Given the description of an element on the screen output the (x, y) to click on. 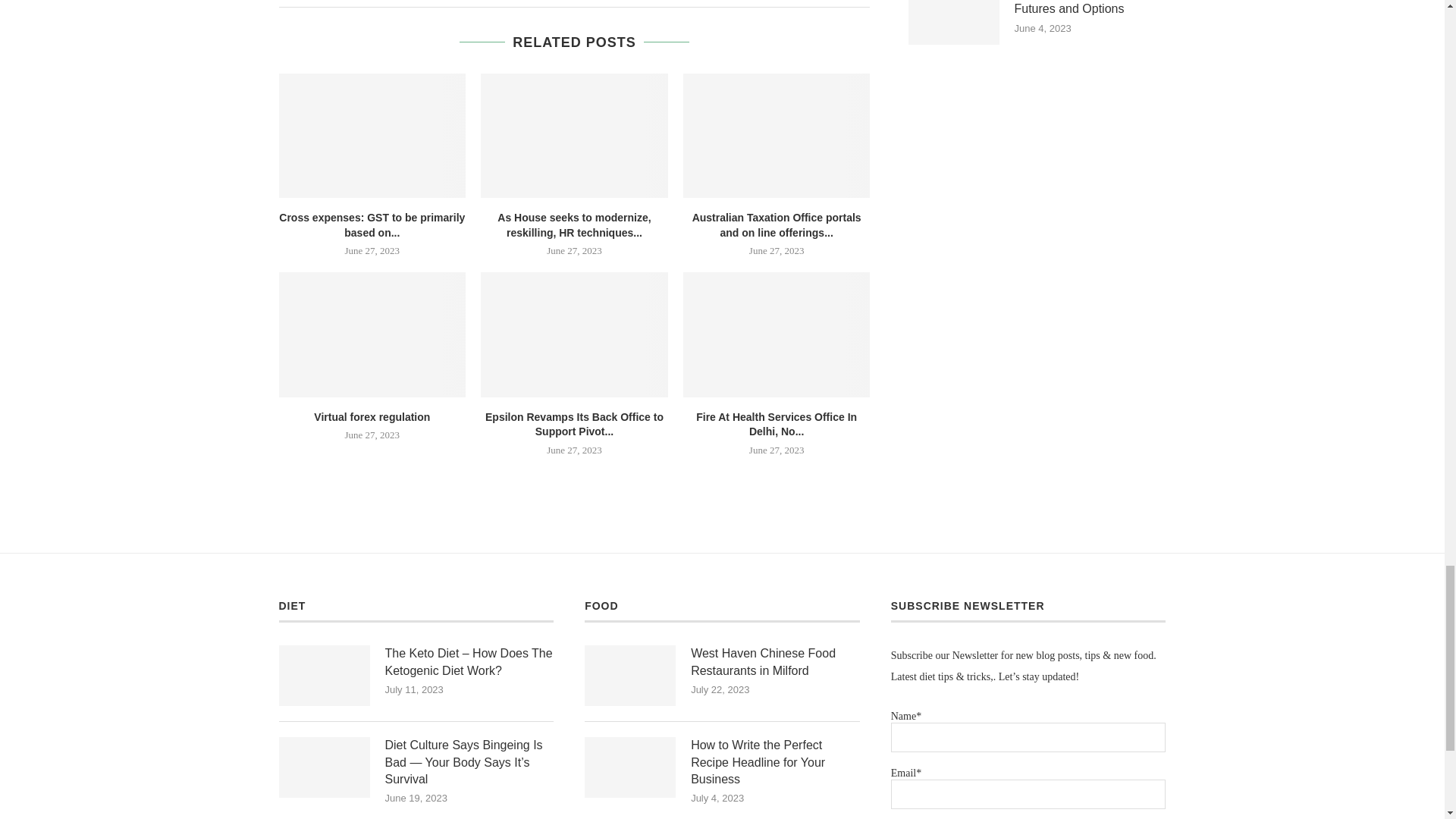
Virtual forex regulation (372, 333)
